Given the description of an element on the screen output the (x, y) to click on. 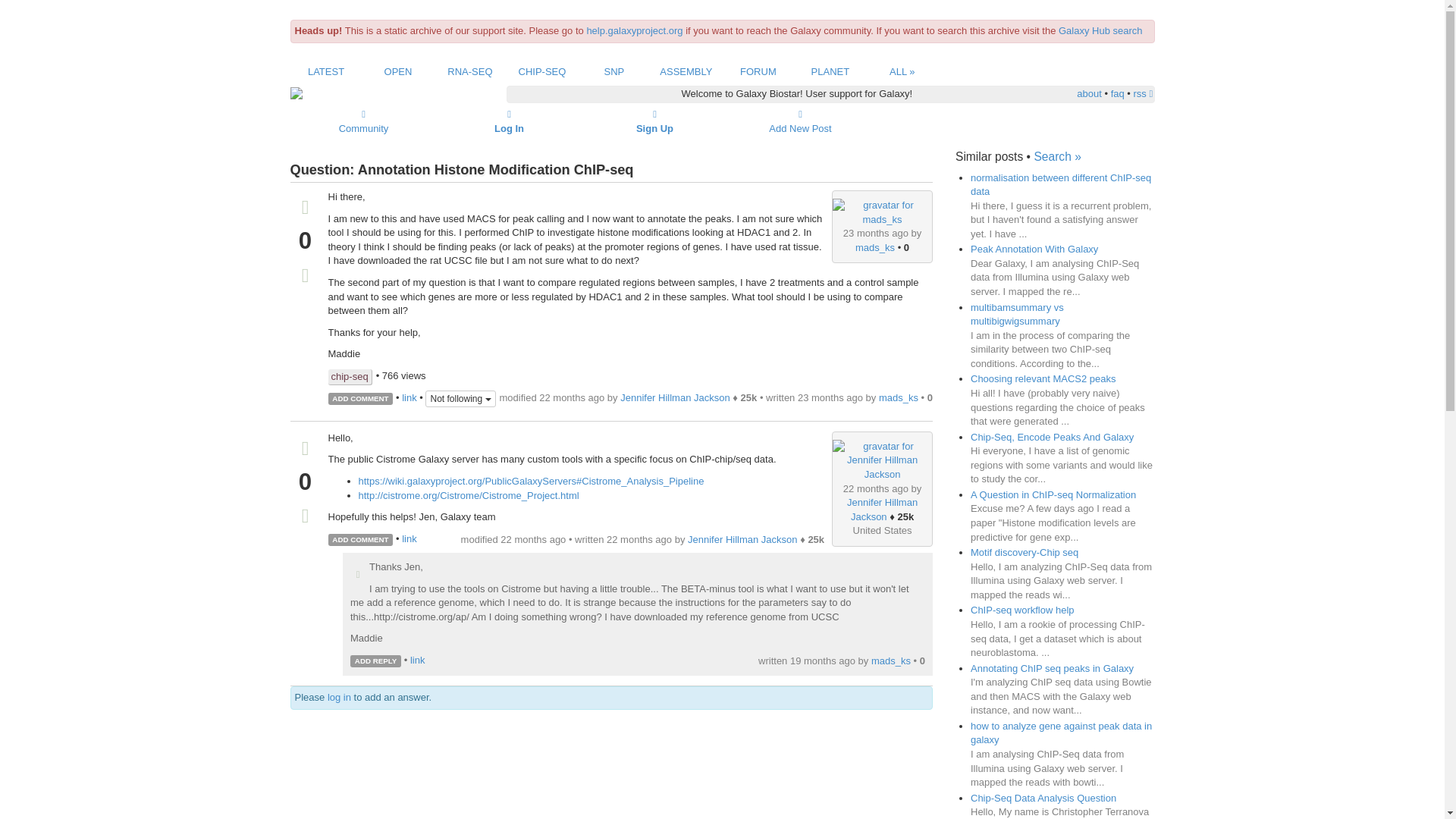
Sign Up (654, 121)
Upvote! (304, 209)
RNA-SEQ (469, 71)
Not following (460, 398)
Community (363, 121)
faq (1117, 93)
FORUM (757, 71)
Log In (509, 121)
Upvote! (304, 449)
Bookmark! (304, 277)
